Given the description of an element on the screen output the (x, y) to click on. 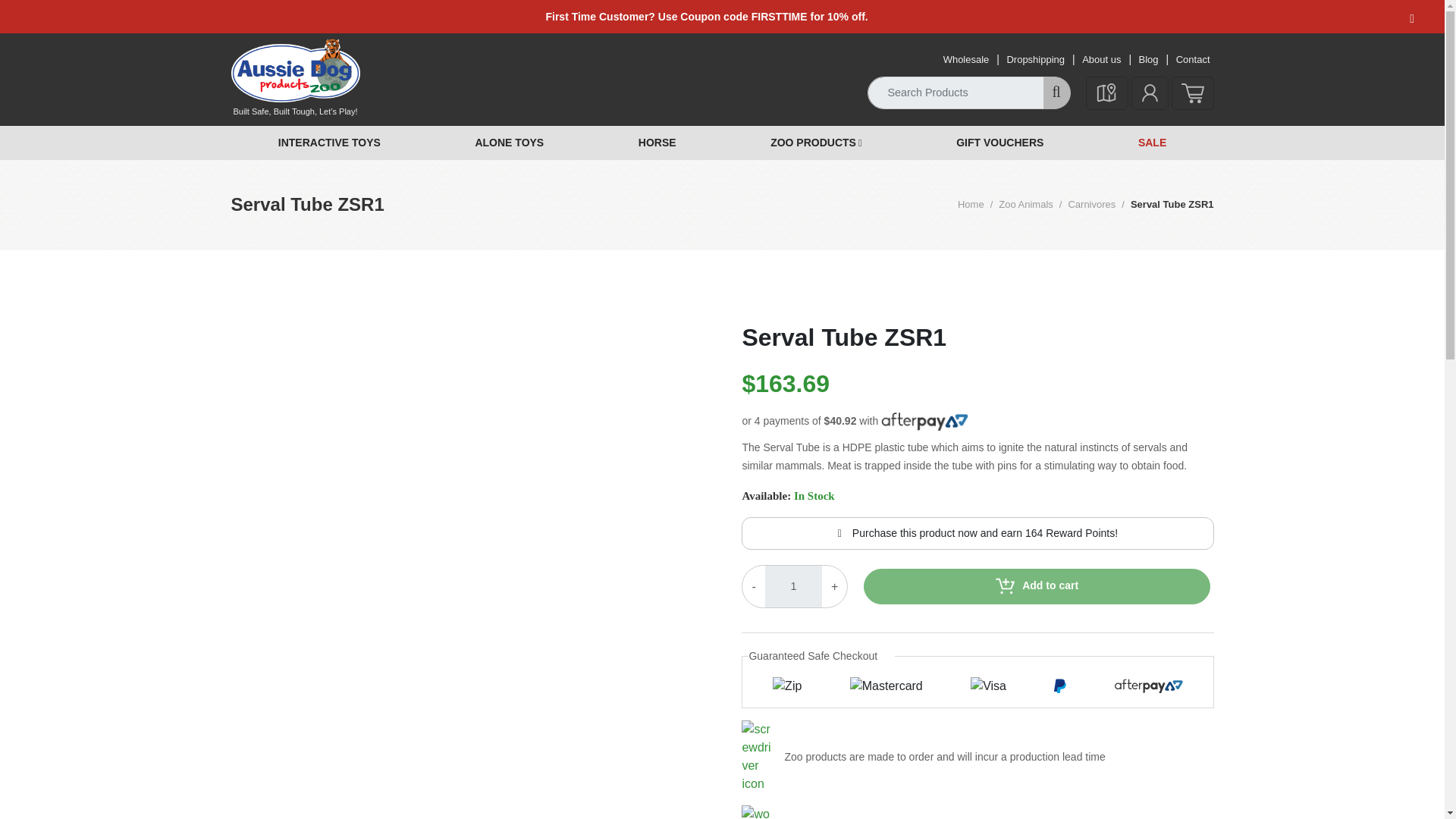
Account (1150, 92)
Wholesale (966, 59)
Blog (1148, 59)
Qty (793, 586)
Cart (1086, 204)
1 (1191, 92)
Dropshipping (793, 586)
About us (1035, 59)
Contact (1101, 59)
